Given the description of an element on the screen output the (x, y) to click on. 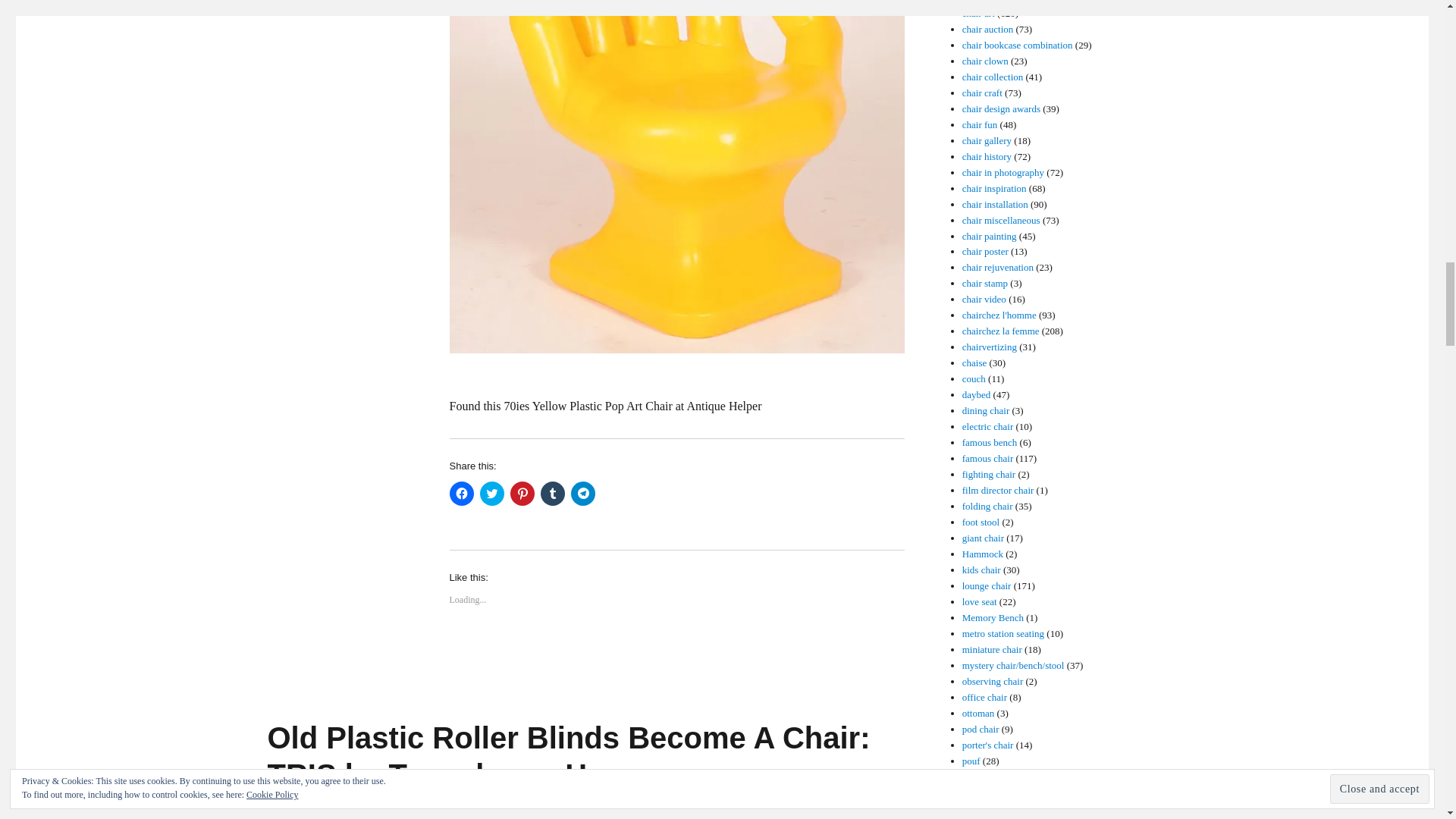
Click to share on Telegram (582, 493)
Click to share on Tumblr (552, 493)
Click to share on Facebook (460, 493)
Click to share on Pinterest (521, 493)
Click to share on Twitter (491, 493)
